Given the description of an element on the screen output the (x, y) to click on. 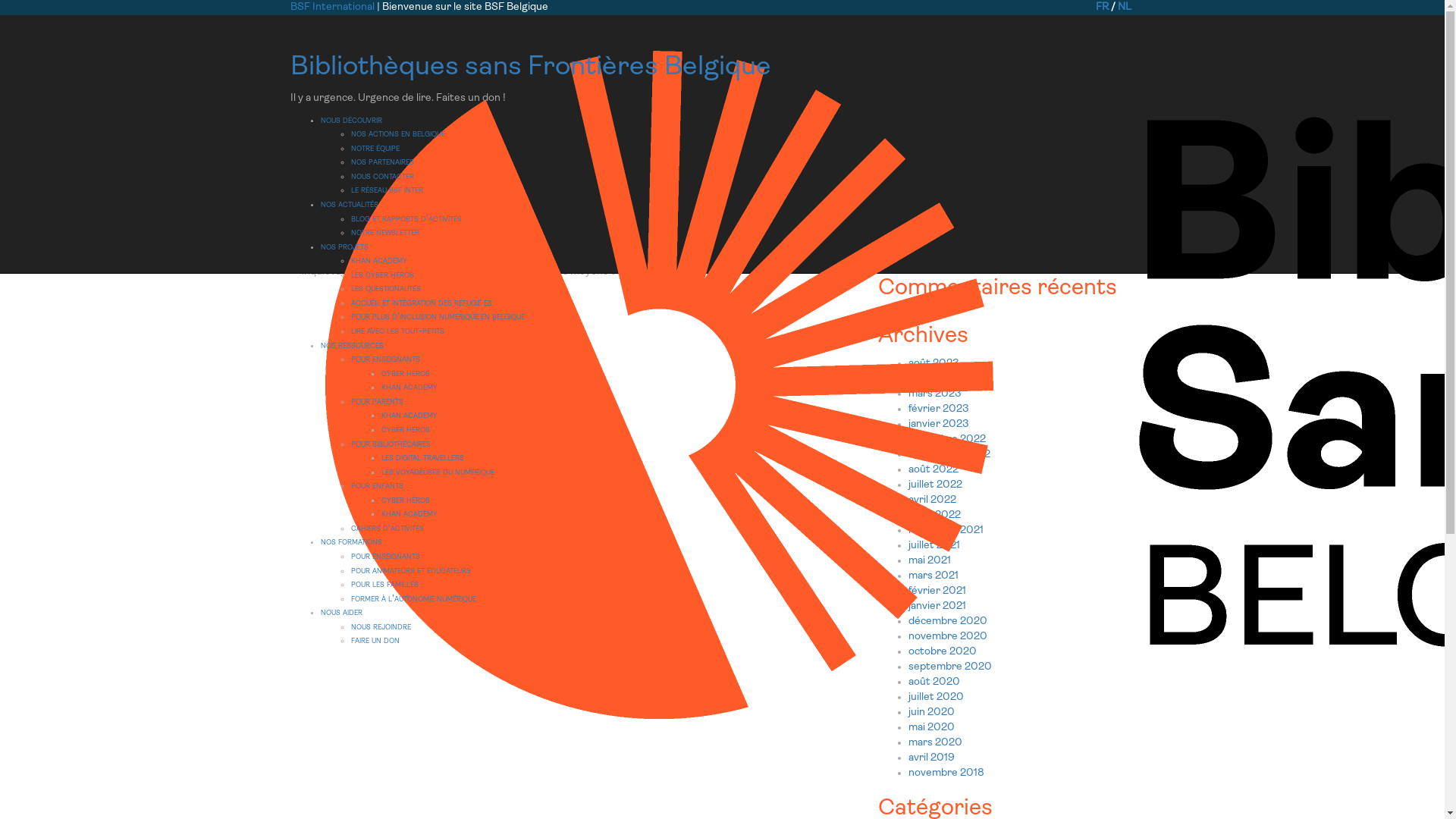
novembre 2020 Element type: text (947, 636)
juin 2020 Element type: text (931, 712)
faire un don Element type: text (374, 640)
pour enseignants Element type: text (384, 359)
0 commentaires Element type: text (606, 181)
les digital travellers Element type: text (421, 457)
khan academy Element type: text (408, 513)
mars 2023 Element type: text (934, 393)
octobre 2020 Element type: text (942, 651)
khan academy Element type: text (408, 387)
juillet 2020 Element type: text (935, 696)
pour enfants Element type: text (376, 485)
janvier 2023 Element type: text (938, 423)
nos ressources Element type: text (351, 345)
Rechercher Element type: text (1053, 32)
mai 2020 Element type: text (931, 727)
mars 2022 Element type: text (934, 514)
nous rejoindre Element type: text (380, 626)
les questionautes Element type: text (385, 288)
novembre 2018 Element type: text (946, 772)
septembre 2020 Element type: text (949, 666)
novembre 2022 Element type: text (946, 439)
avril 2019 Element type: text (931, 757)
pour les familles Element type: text (383, 584)
mai 2021 Element type: text (929, 560)
avril 2022 Element type: text (932, 499)
nos actions en belgique Element type: text (397, 133)
novembre 2021 Element type: text (945, 530)
juillet 2022 Element type: text (935, 484)
nous contacter Element type: text (381, 176)
mars 2020 Element type: text (935, 742)
nous aider Element type: text (340, 612)
NL Element type: text (1124, 6)
mars 2021 Element type: text (933, 575)
janvier 2021 Element type: text (937, 605)
khan academy Element type: text (378, 260)
BSF International Element type: text (332, 6)
pour enseignants Element type: text (384, 556)
nos projets Element type: text (343, 246)
nos partenaires Element type: text (381, 161)
juin 2023 Element type: text (930, 378)
juillet 2021 Element type: text (934, 545)
septembre 2022 Element type: text (949, 454)
notre newsletter Element type: text (384, 232)
nos formations Element type: text (350, 541)
pour parents Element type: text (376, 401)
FR Element type: text (1101, 6)
lire avec les tout-petits Element type: text (396, 330)
khan academy Element type: text (408, 415)
